Given the description of an element on the screen output the (x, y) to click on. 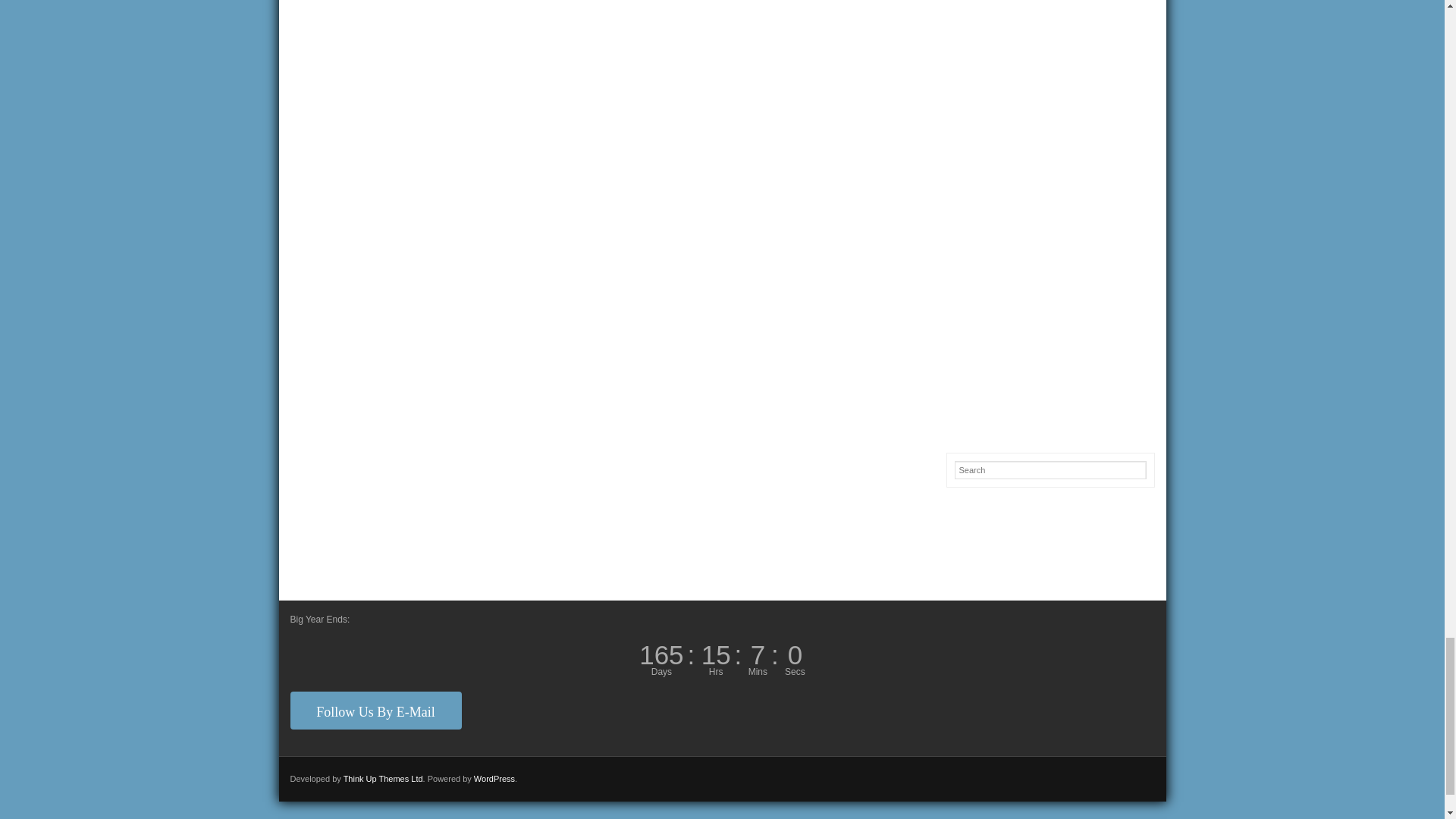
Never Miss a New Blog Post (375, 710)
